Given the description of an element on the screen output the (x, y) to click on. 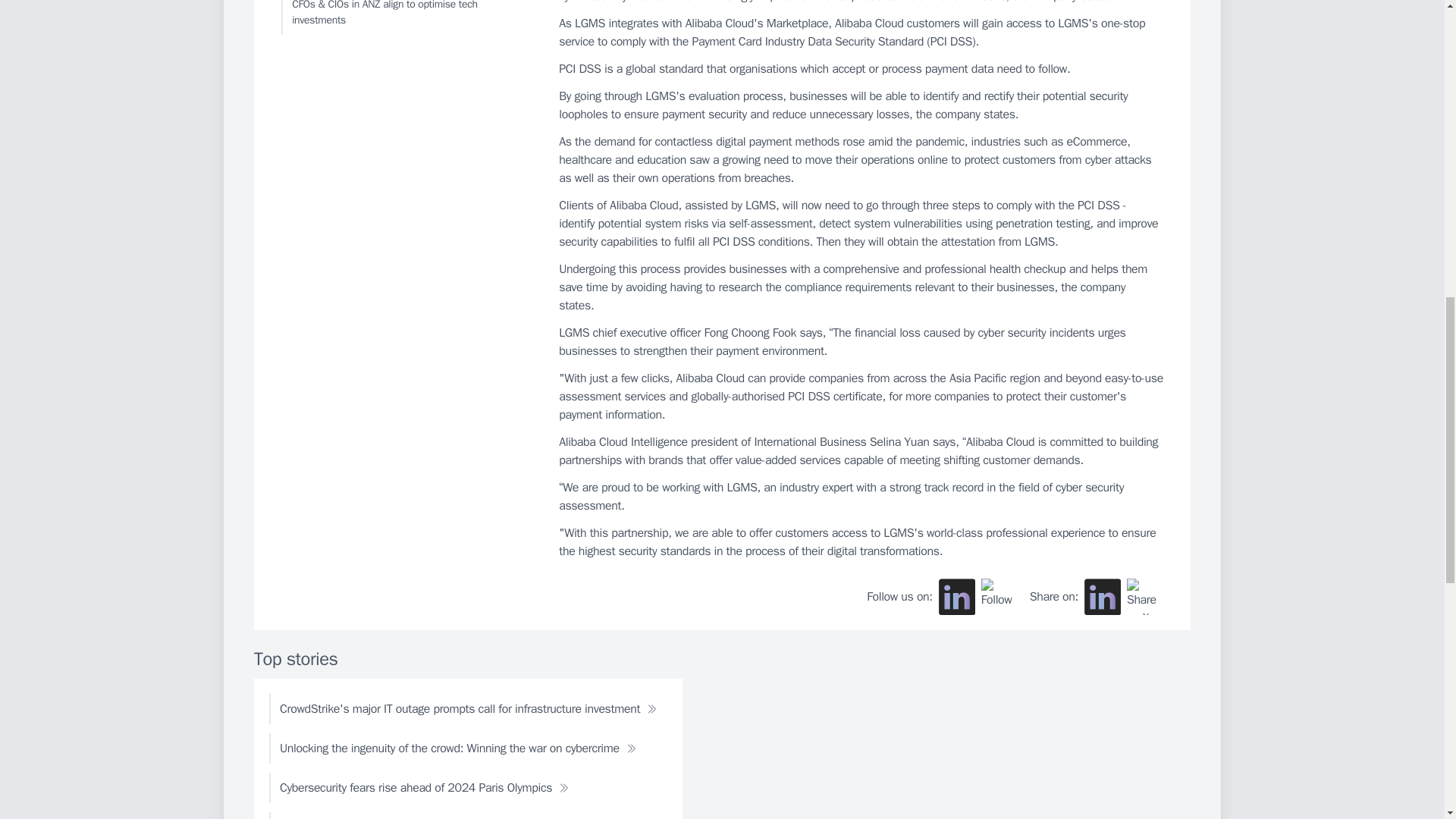
Cybersecurity fears rise ahead of 2024 Paris Olympics (424, 788)
Most Oracle Java users migrate to alternatives, says survey (437, 815)
